Given the description of an element on the screen output the (x, y) to click on. 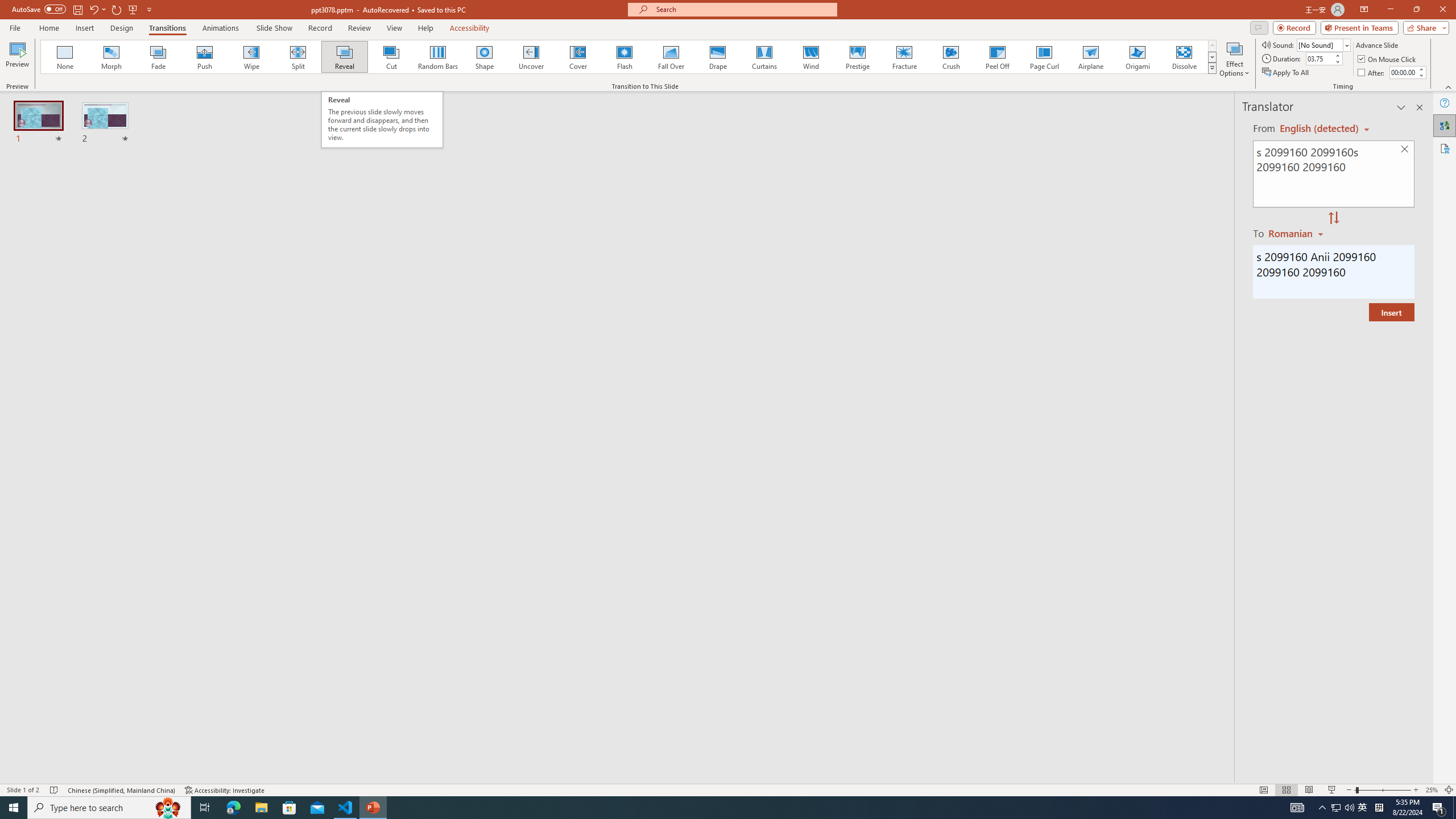
Crush (950, 56)
Uncover (531, 56)
Romanian (1296, 232)
